Given the description of an element on the screen output the (x, y) to click on. 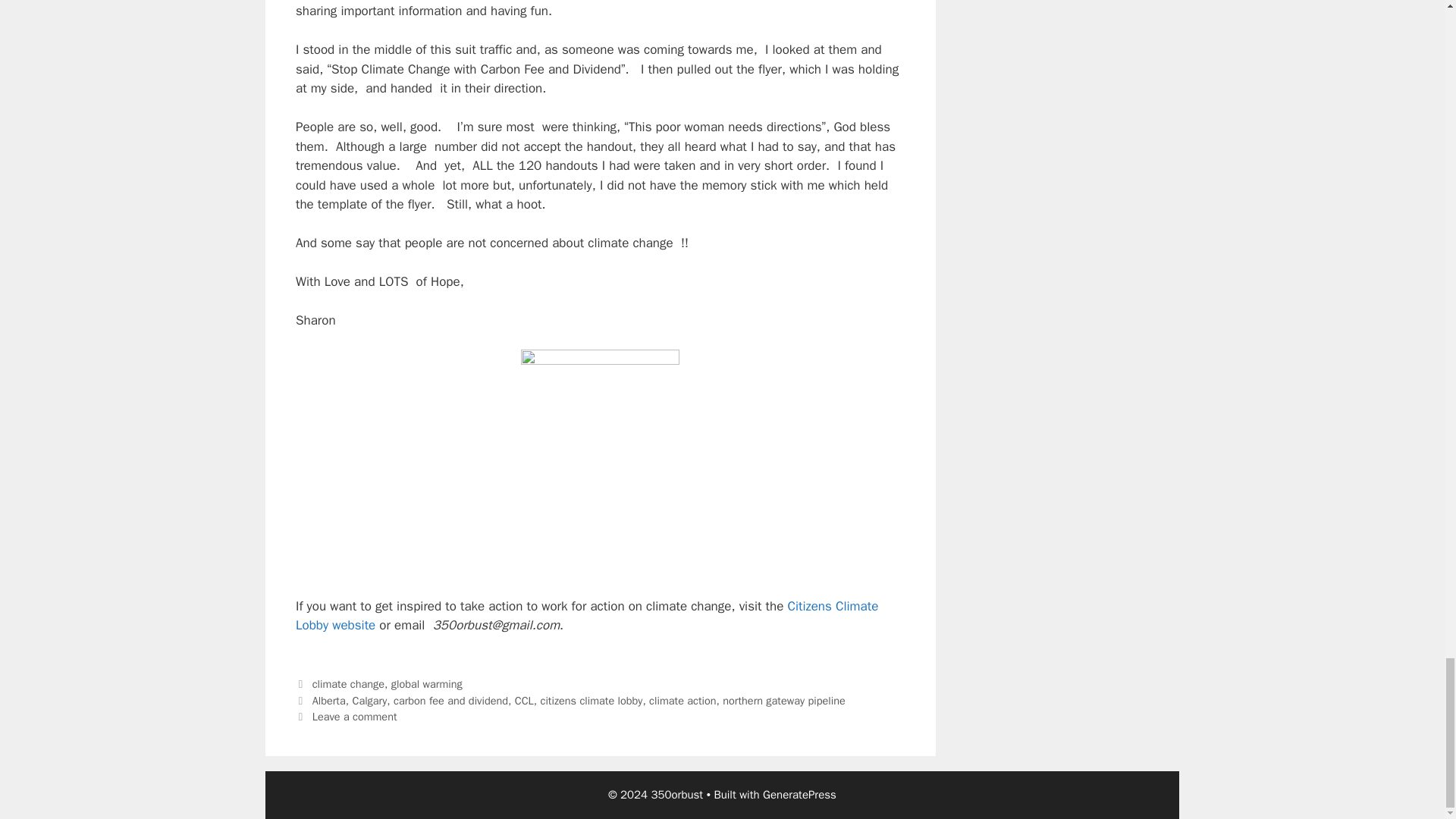
Alberta (329, 700)
carbon fee and dividend (450, 700)
CCL (524, 700)
climate change (348, 684)
global warming (427, 684)
CitizensClimateLobby.org (586, 615)
citizens climate lobby (591, 700)
Calgary (369, 700)
climate action (682, 700)
northern gateway pipeline (783, 700)
Leave a comment (355, 716)
Citizens Climate Lobby website (586, 615)
